Given the description of an element on the screen output the (x, y) to click on. 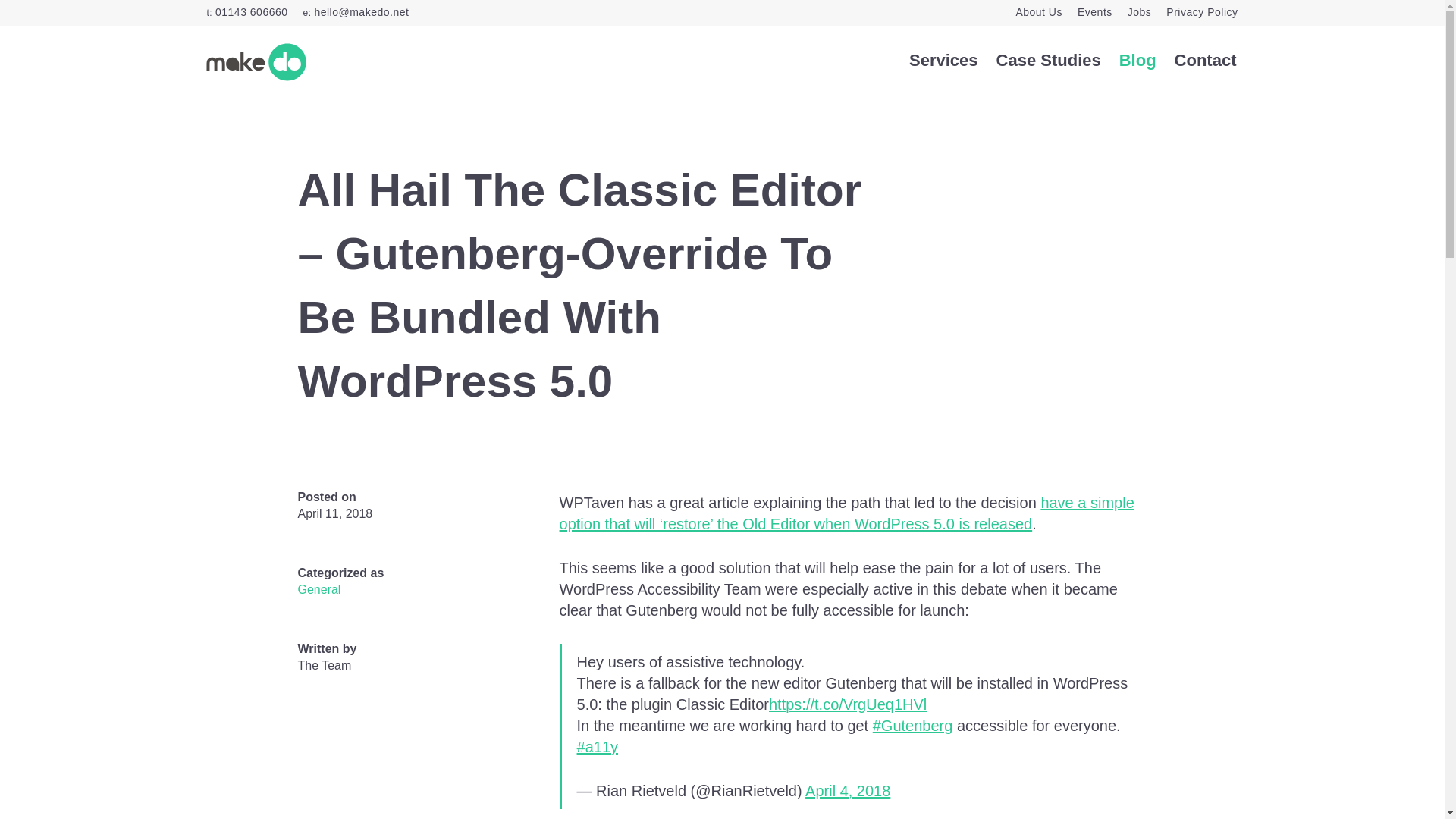
Make Do (255, 61)
Case Studies (1047, 60)
Jobs (1138, 11)
Primary Navigation (1071, 61)
Privacy Policy (1201, 11)
General (318, 589)
Utility Navigation (930, 12)
Contact (1205, 60)
About Us (1038, 11)
Services (943, 60)
April 4, 2018 (847, 790)
Events (1094, 11)
Blog (1137, 60)
